Given the description of an element on the screen output the (x, y) to click on. 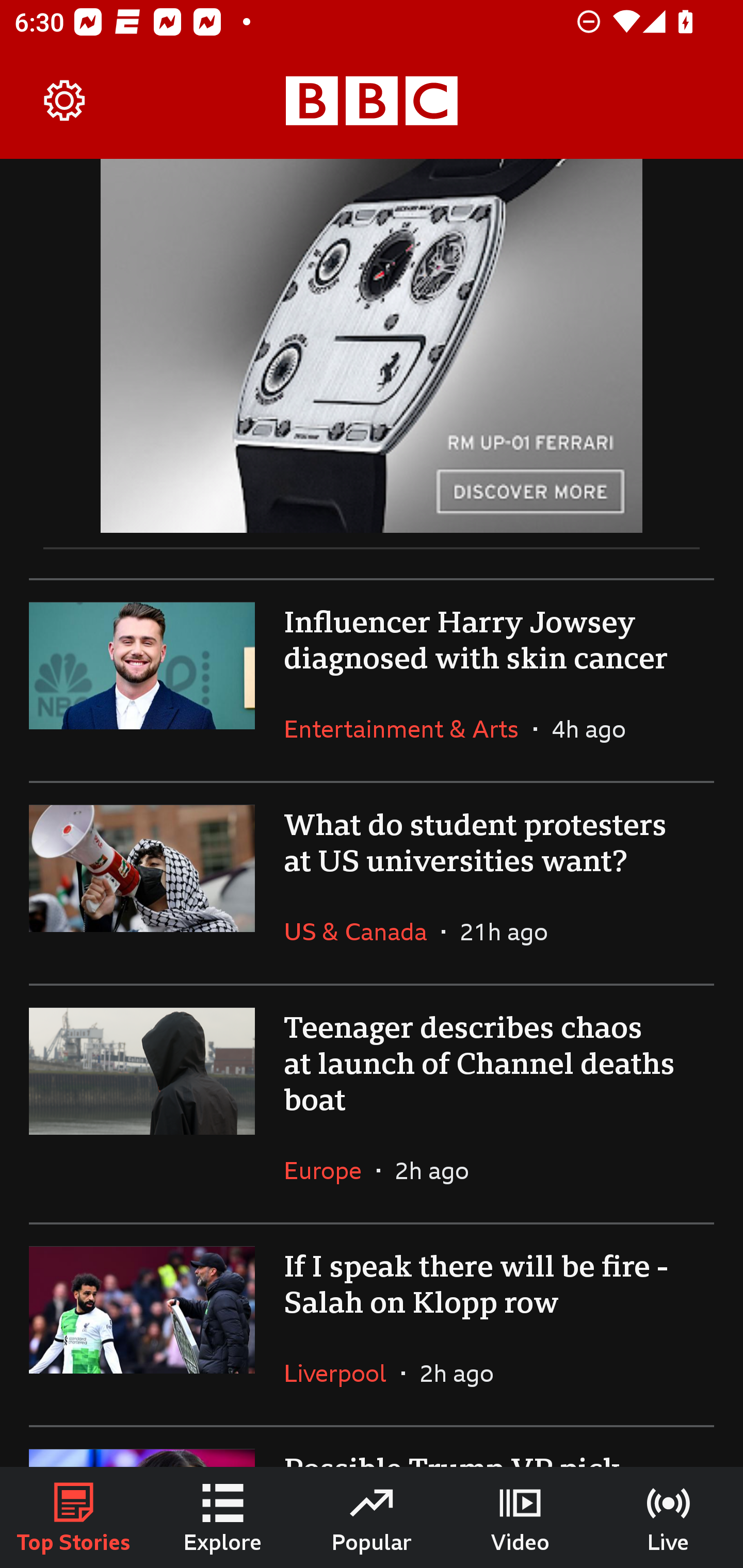
Settings (64, 100)
Advertisement (371, 345)
US & Canada In the section US & Canada (362, 931)
Europe In the section Europe (329, 1170)
Liverpool In the section Liverpool (342, 1372)
Explore (222, 1517)
Popular (371, 1517)
Video (519, 1517)
Live (668, 1517)
